Given the description of an element on the screen output the (x, y) to click on. 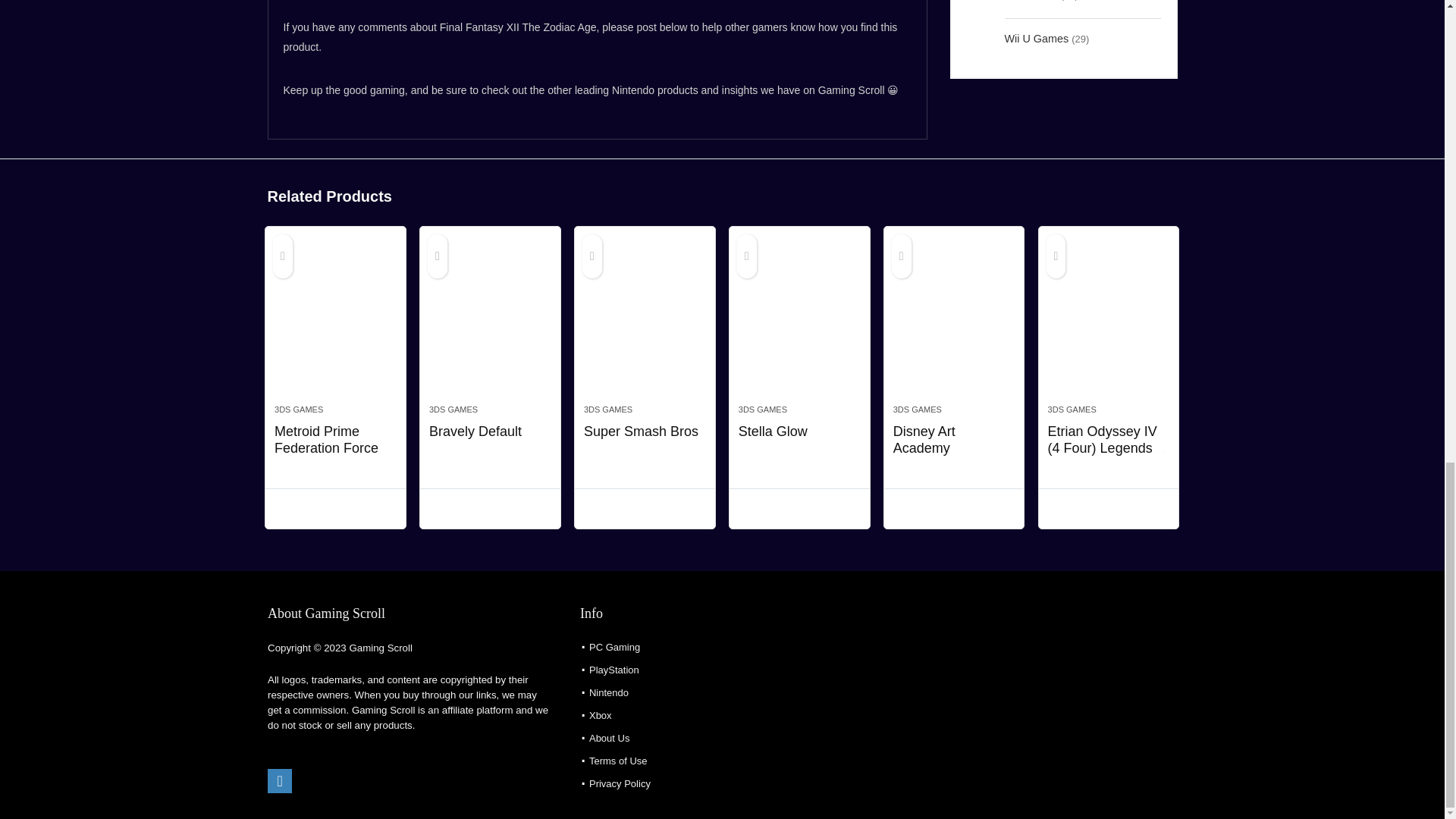
Wii Games (1030, 7)
3DS GAMES (453, 409)
Metroid Prime Federation Force (335, 322)
Metroid Prime Federation Force (326, 439)
Super Smash Bros (644, 322)
Wii U Games (1036, 38)
Stella Glow (799, 322)
Instagramm (279, 781)
Bravely Default (490, 322)
3DS GAMES (607, 409)
Bravely Default (475, 431)
3DS GAMES (299, 409)
Disney Art Academy (953, 322)
